Given the description of an element on the screen output the (x, y) to click on. 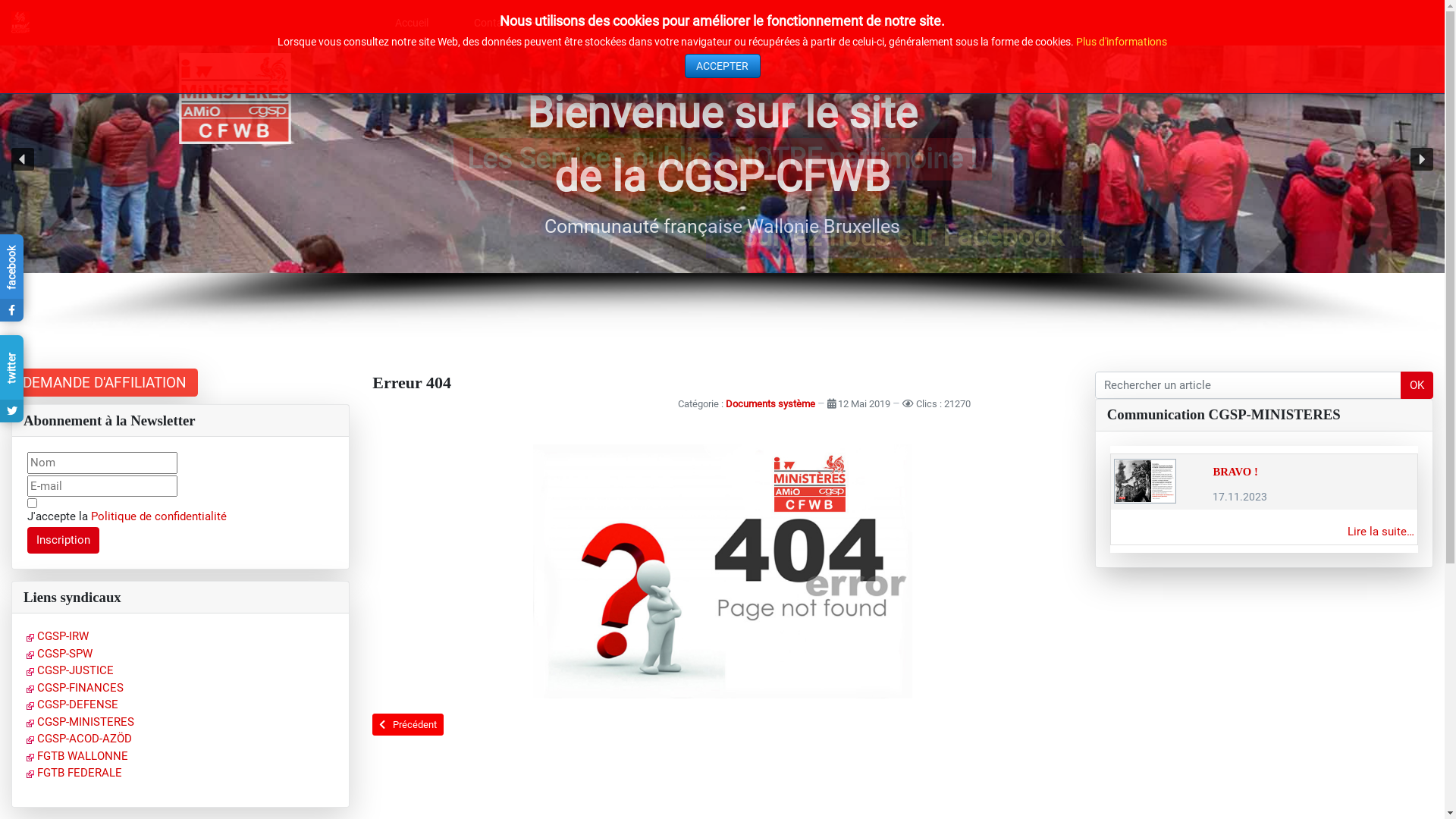
Les Services publics, NOTRE patrimoine ! Element type: text (722, 159)
Affiliation Element type: text (602, 22)
Archives Element type: text (705, 22)
Login Element type: text (900, 22)
 CGSP-JUSTICE Element type: text (69, 670)
 CGSP-IRW Element type: text (57, 636)
Contact Element type: text (500, 22)
 CGSP-SPW Element type: text (59, 653)
OK Element type: text (1416, 384)
 FGTB FEDERALE Element type: text (74, 772)
DEMANDE D'AFFILIATION Element type: text (104, 382)
 CGSP-FINANCES Element type: text (74, 687)
Inscription Element type: text (63, 540)
Accueil Element type: text (411, 22)
Plus d'informations Element type: text (1121, 41)
Termes et conditions Element type: hover (32, 503)
Nos actions Element type: text (806, 22)
BRAVO ! Element type: text (1234, 471)
 CGSP-DEFENSE Element type: text (72, 704)
 FGTB WALLONNE Element type: text (77, 755)
Suivez-nous sur Facebook Element type: text (901, 236)
 CGSP-MINISTERES Element type: text (80, 721)
